Given the description of an element on the screen output the (x, y) to click on. 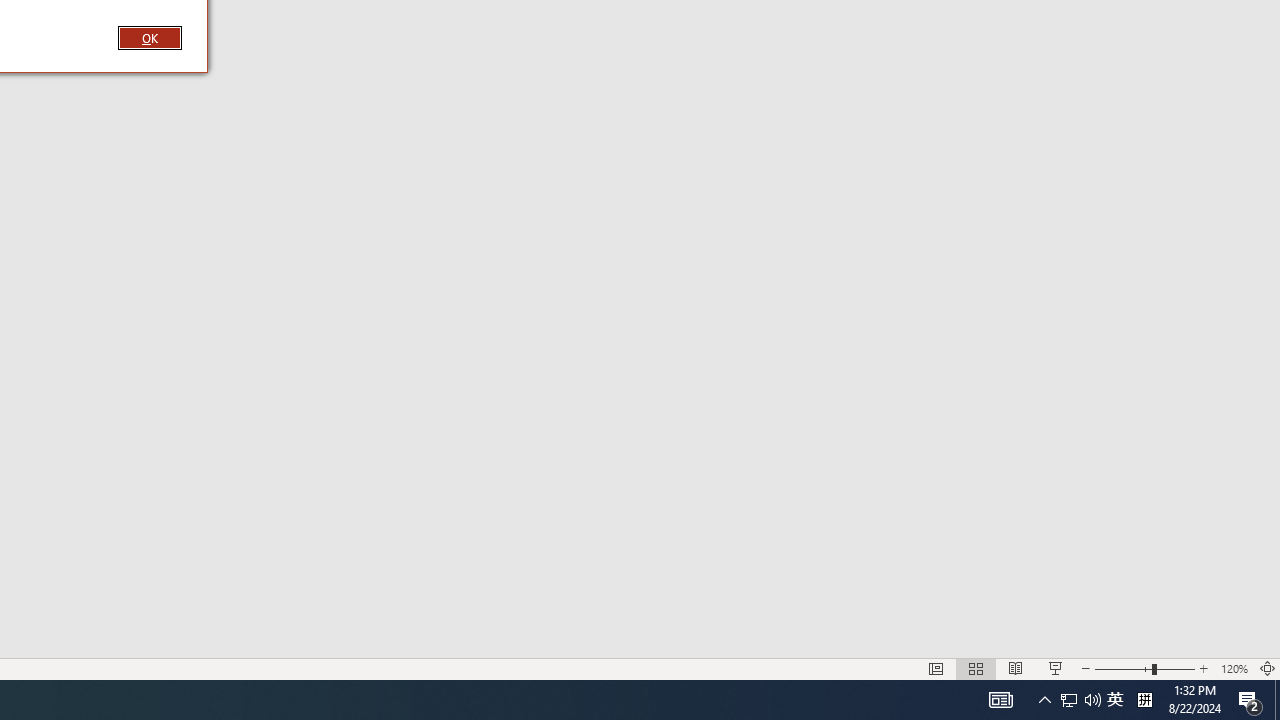
AutomationID: 4105 (1000, 699)
Show desktop (1069, 699)
User Promoted Notification Area (1115, 699)
Tray Input Indicator - Chinese (Simplified, China) (1277, 699)
OK (1080, 699)
Q2790: 100% (1144, 699)
